Given the description of an element on the screen output the (x, y) to click on. 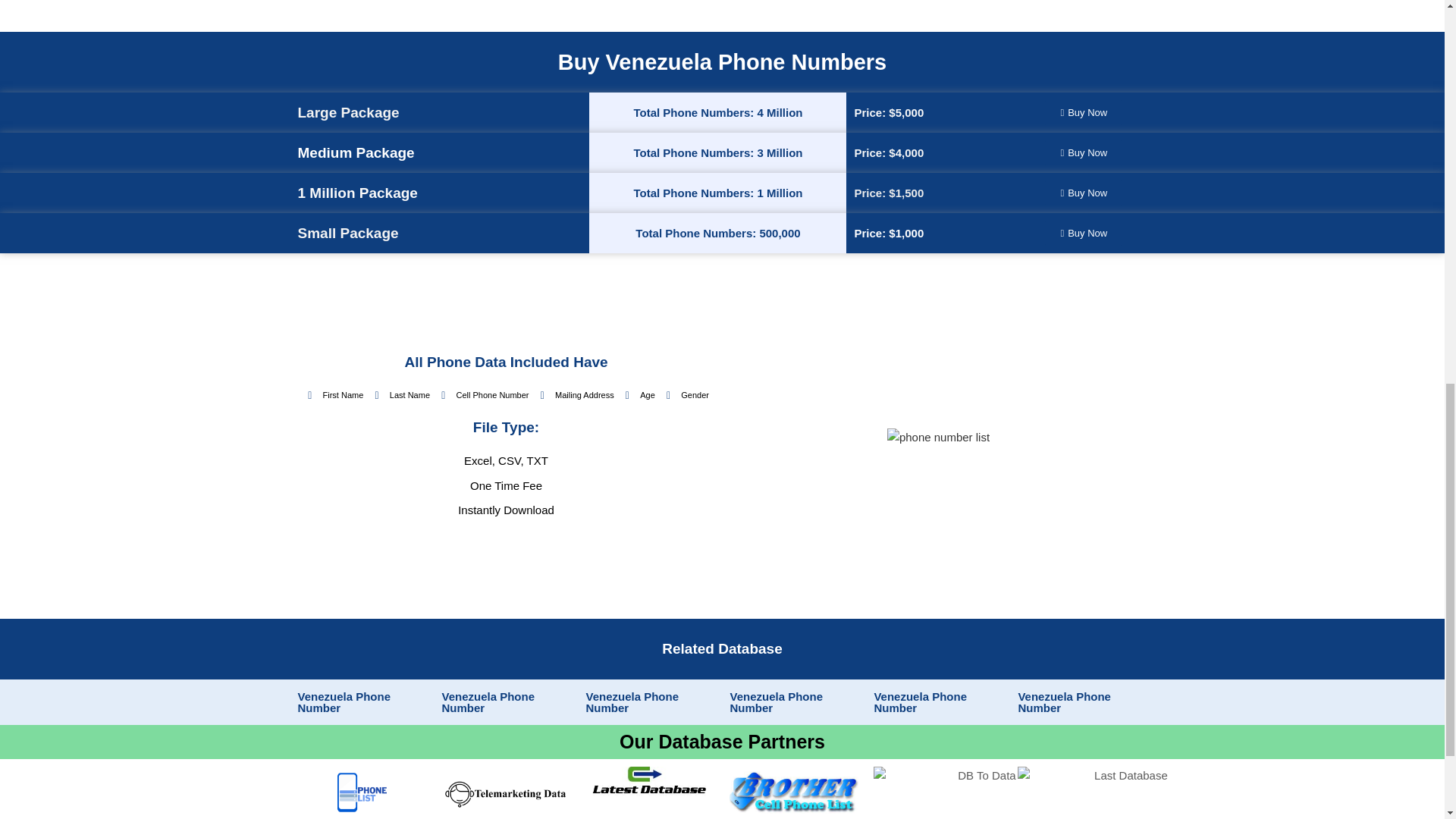
Venezuela Phone Number (775, 702)
Venezuela Phone Number (631, 702)
Buy Now (1083, 192)
Venezuela Phone Number (343, 702)
Venezuela Phone Number (1063, 702)
Venezuela Phone Number (487, 702)
Buy Now (1083, 112)
Buy Now (1083, 232)
Buy Now (1083, 152)
Venezuela Phone Number (919, 702)
